Given the description of an element on the screen output the (x, y) to click on. 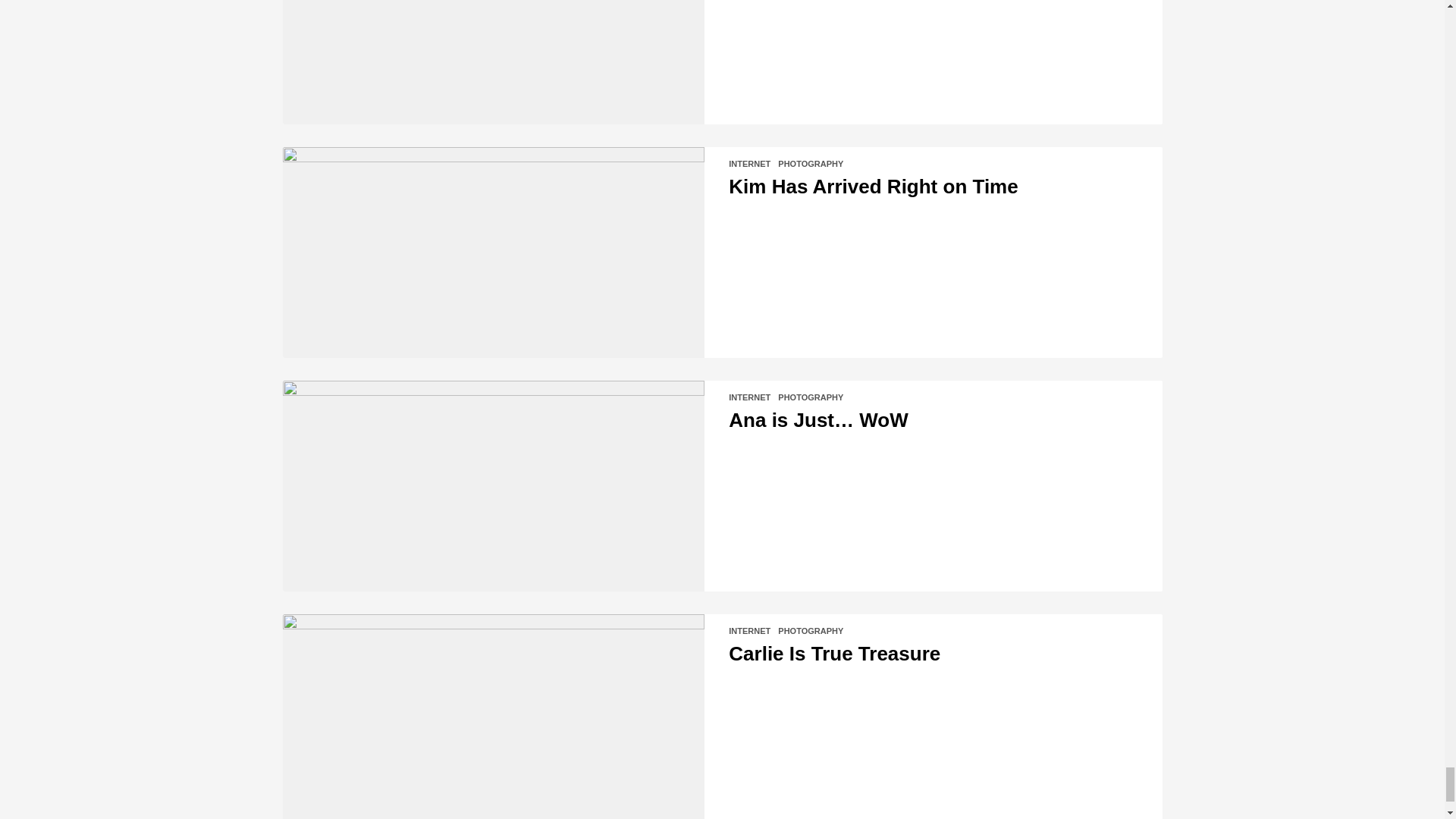
Candice is Breaking Down Any Barriers (493, 61)
Carlie Is True Treasure (493, 716)
Kim Has Arrived Right on Time (493, 252)
